Given the description of an element on the screen output the (x, y) to click on. 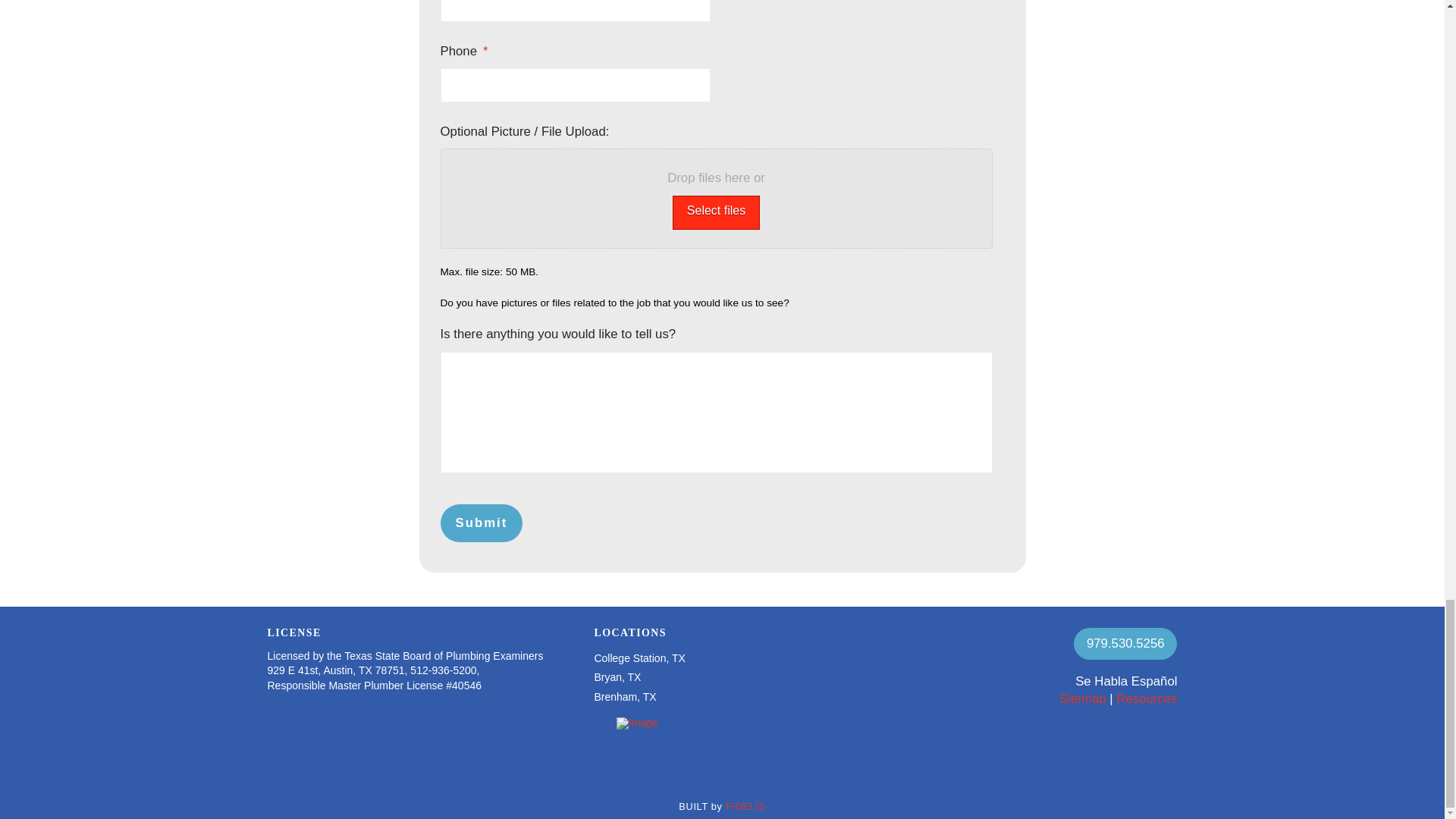
Brenham, TX (625, 696)
College Station, TX (639, 658)
Submit (480, 523)
Sitemap (1082, 698)
Select files (716, 212)
Resources (1146, 698)
Bryan, TX (617, 677)
FIDELIS (745, 806)
Submit (480, 523)
979.530.5256 (1125, 644)
